Given the description of an element on the screen output the (x, y) to click on. 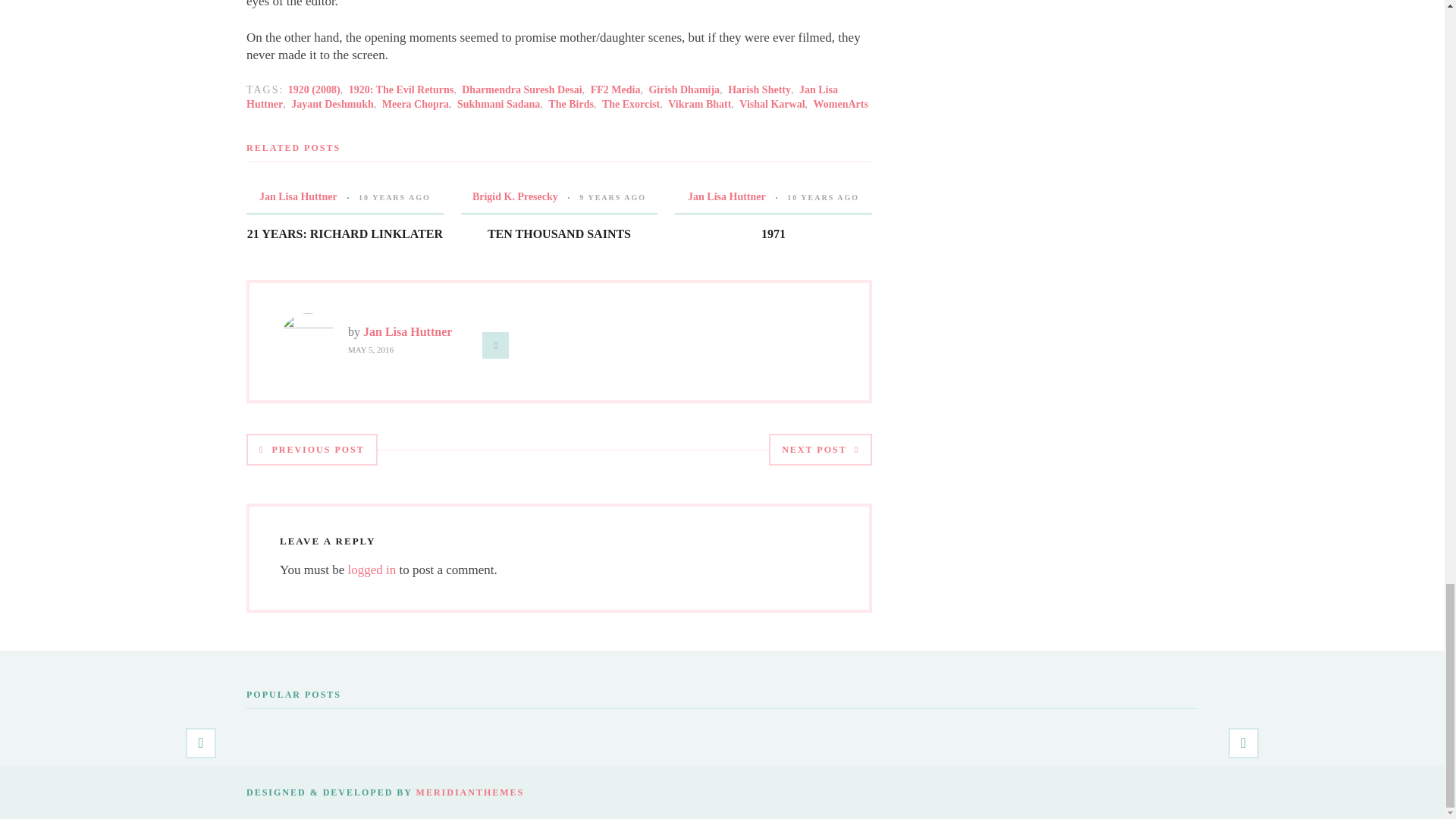
Posts by Jan Lisa Huttner (726, 196)
Posts by Jan Lisa Huttner (406, 331)
Posts by Brigid K. Presecky (514, 196)
Posts by Jan Lisa Huttner (298, 196)
